Given the description of an element on the screen output the (x, y) to click on. 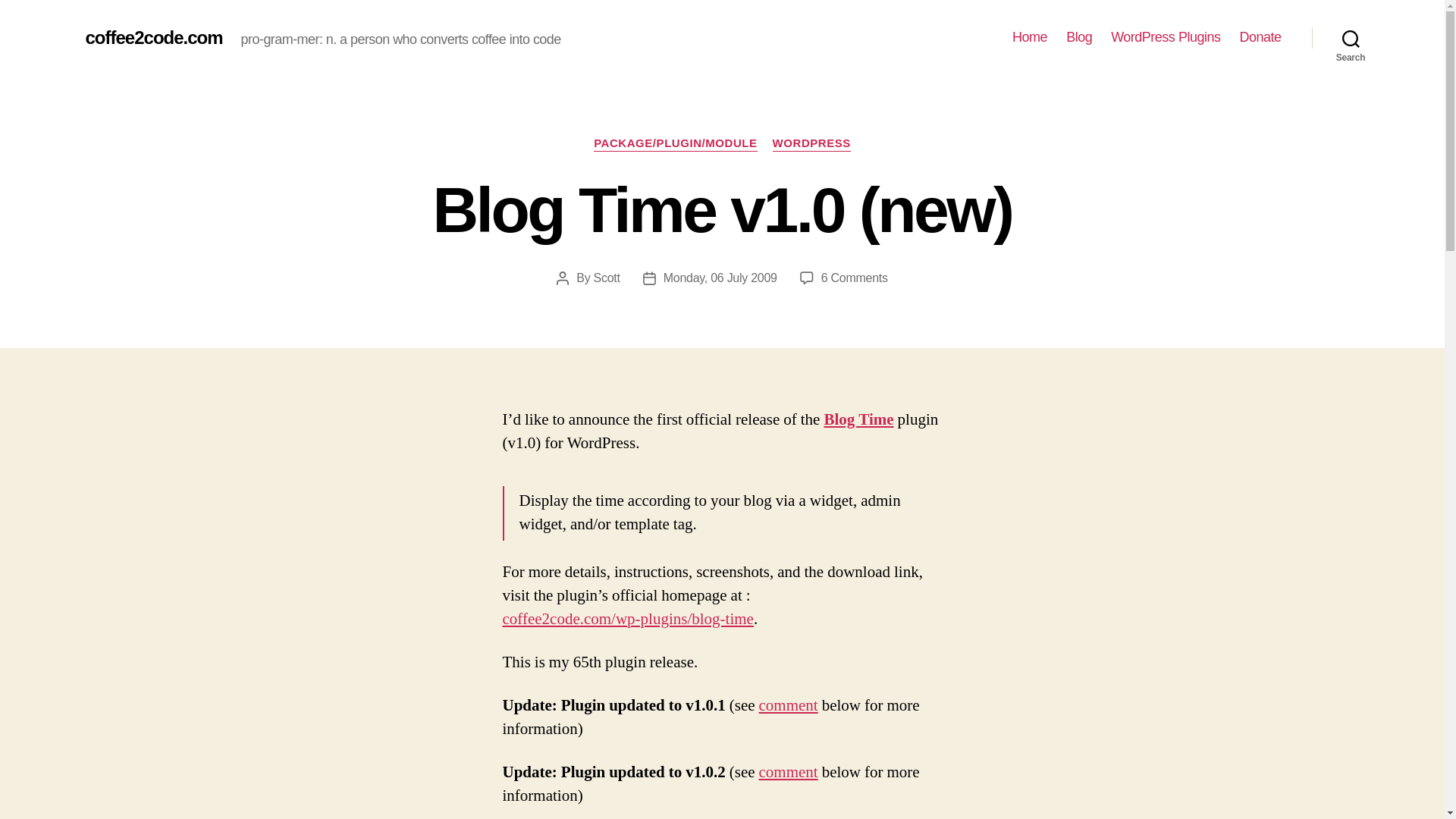
Blog Time (858, 419)
Blog (1078, 37)
WordPress Plugins (1165, 37)
coffee2code.com (153, 37)
WORDPRESS (811, 143)
Search (1350, 37)
Scott (607, 277)
comment (788, 772)
Donate (1260, 37)
Monday, 06 July 2009 (720, 277)
